Given the description of an element on the screen output the (x, y) to click on. 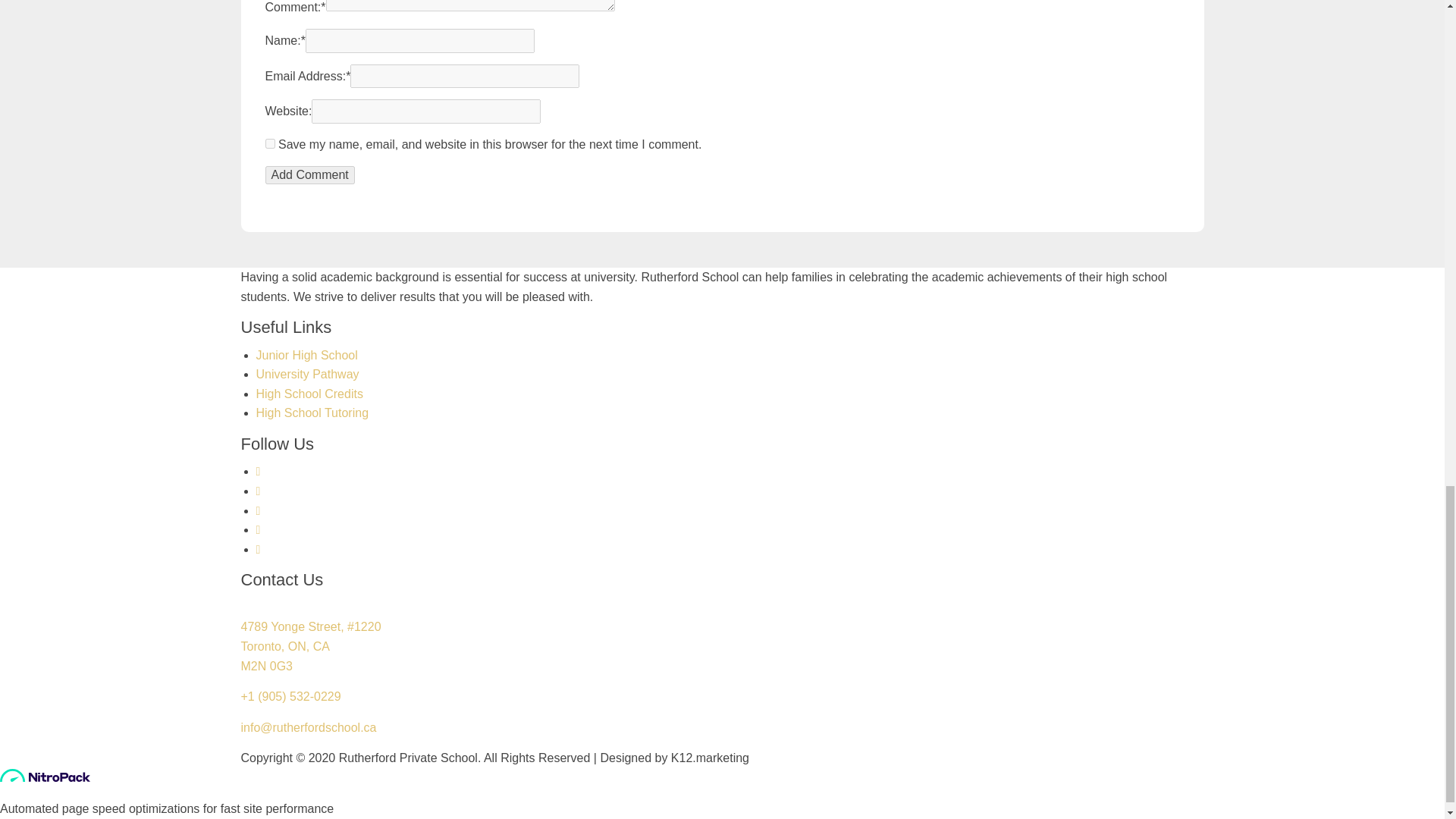
yes (269, 143)
Add Comment (309, 175)
